Given the description of an element on the screen output the (x, y) to click on. 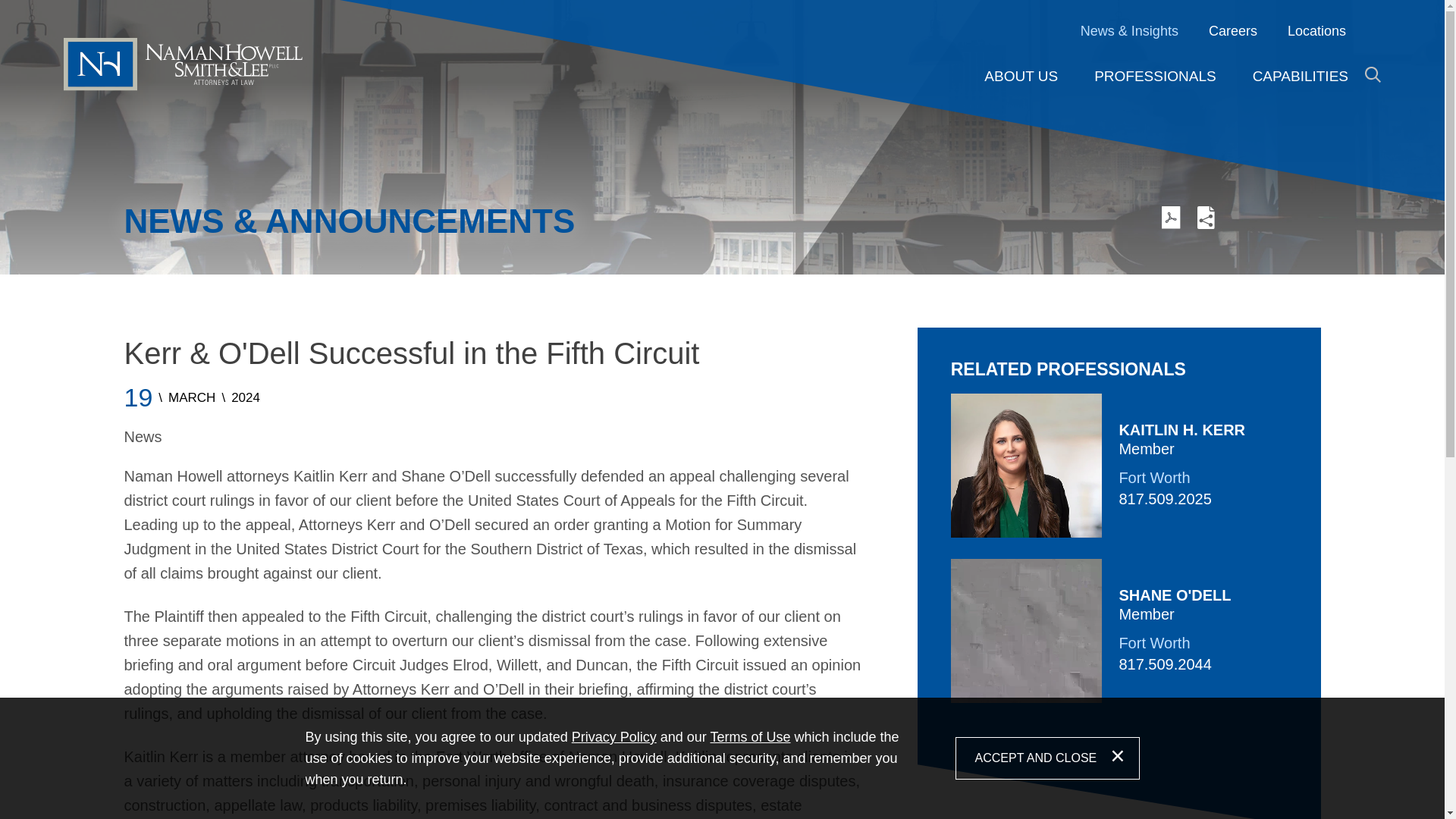
PROFESSIONALS (1154, 76)
Privacy Policy (614, 736)
Main Menu (673, 20)
Main Content (666, 20)
Menu (673, 20)
Search (1372, 74)
Share (1205, 224)
ABOUT US (1020, 76)
Careers (1232, 31)
CAPABILITIES (1300, 76)
